Given the description of an element on the screen output the (x, y) to click on. 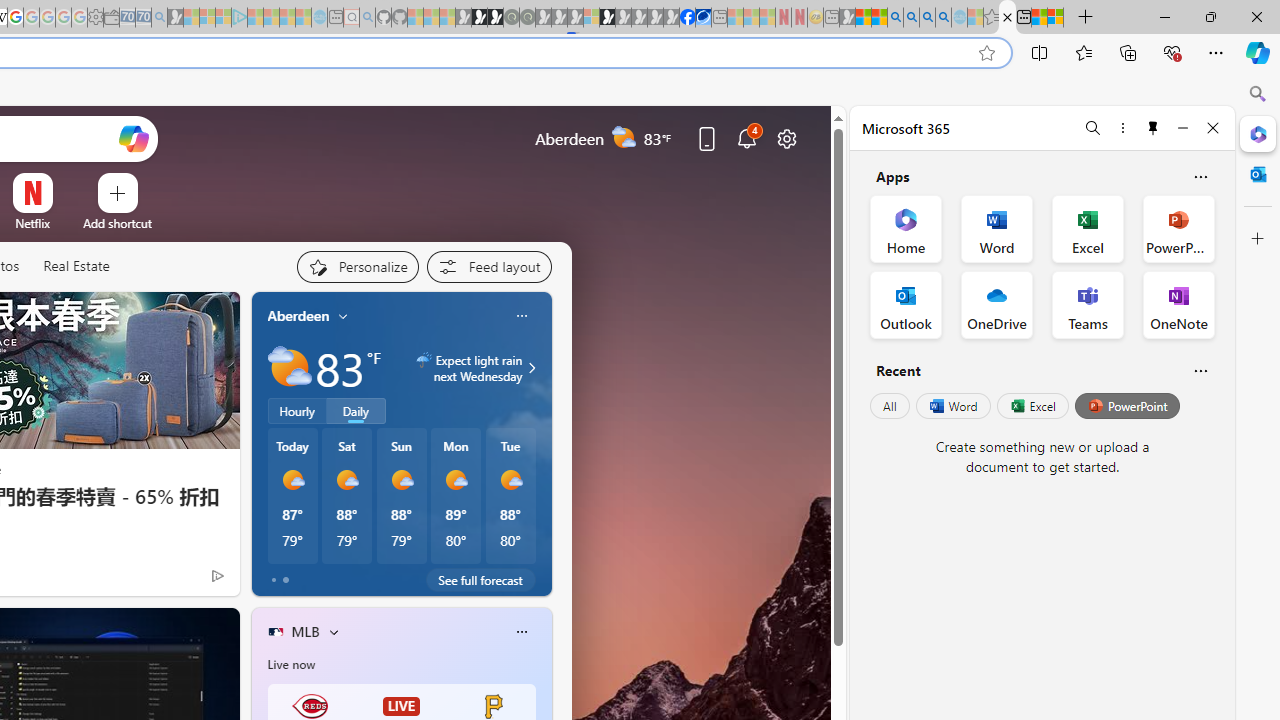
Teams Office App (1087, 304)
MSN - Sleeping (847, 17)
Class: weather-arrow-glyph (531, 367)
Play Zoo Boom in your browser | Games from Microsoft Start (479, 17)
